Given the description of an element on the screen output the (x, y) to click on. 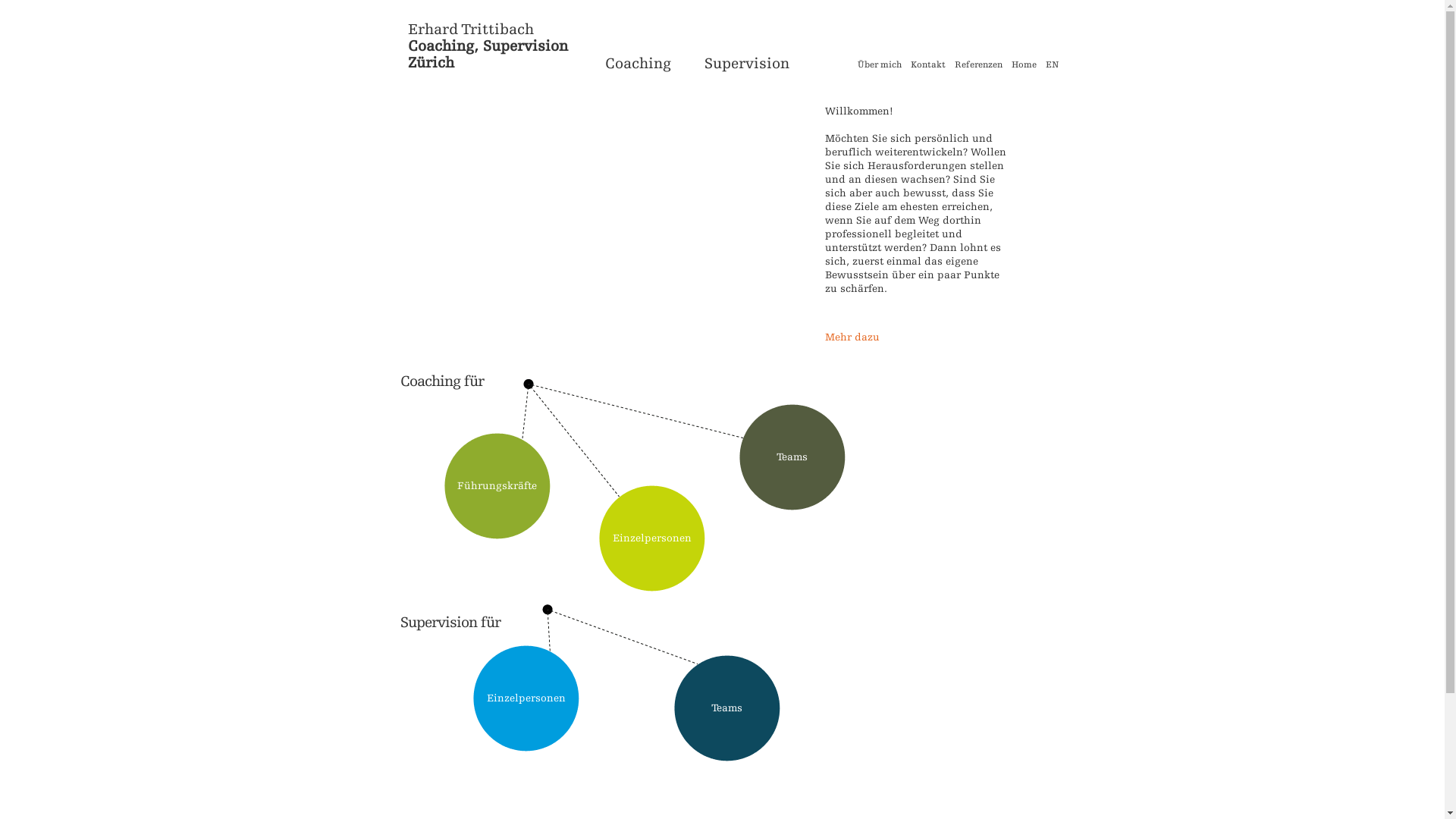
Coaching Element type: text (638, 63)
Mehr dazu Element type: text (852, 337)
Einzelpersonen Element type: text (525, 698)
Home Element type: text (1023, 68)
Supervision Element type: text (745, 63)
Kontakt Element type: text (927, 68)
Referenzen Element type: text (978, 68)
EN Element type: text (1051, 68)
Einzelpersonen Element type: text (652, 538)
chin Element type: text (438, 380)
Teams Element type: text (727, 708)
Teams Element type: text (792, 457)
